Given the description of an element on the screen output the (x, y) to click on. 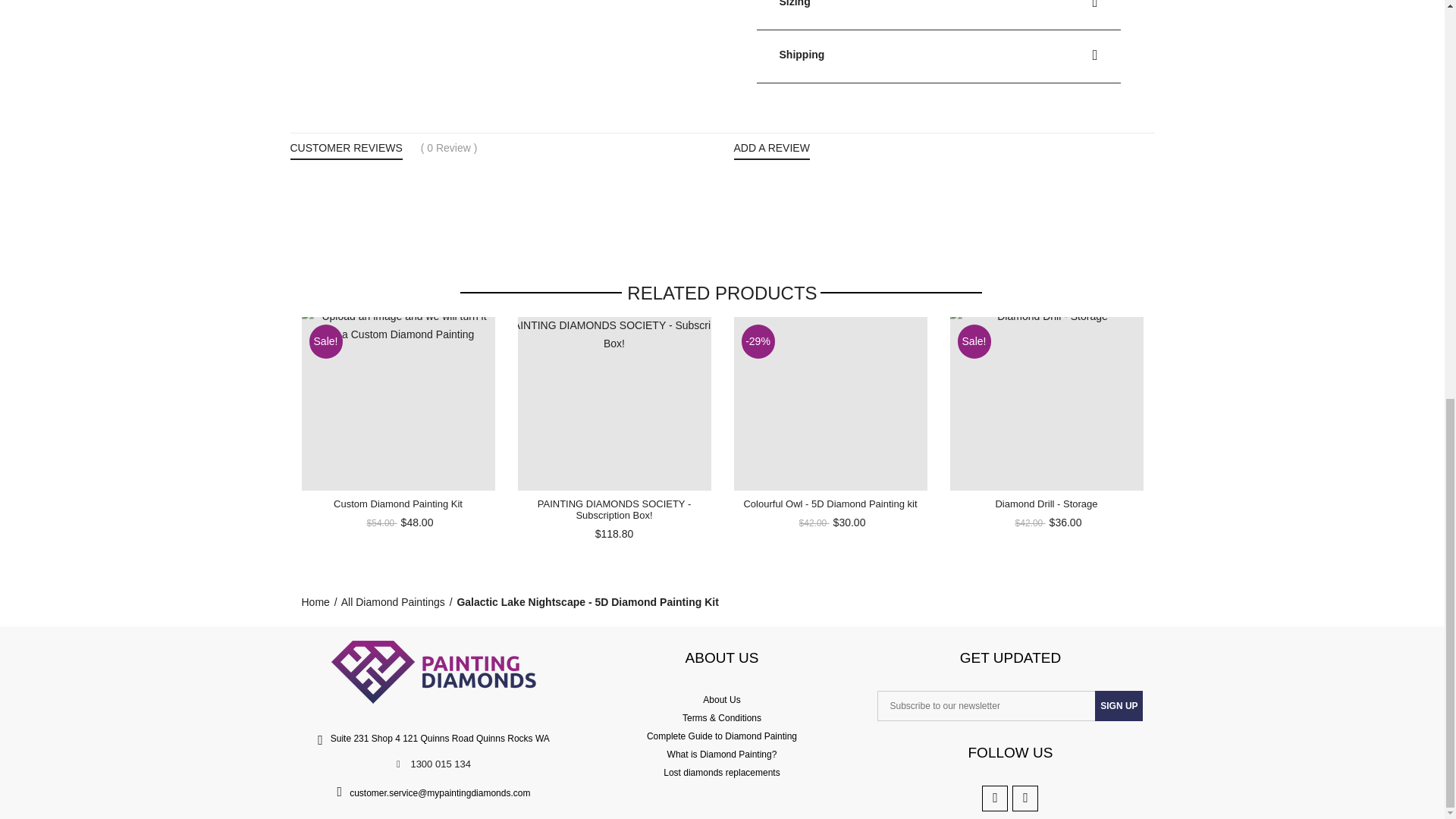
Custom Diamond Painting Kit (398, 503)
